Given the description of an element on the screen output the (x, y) to click on. 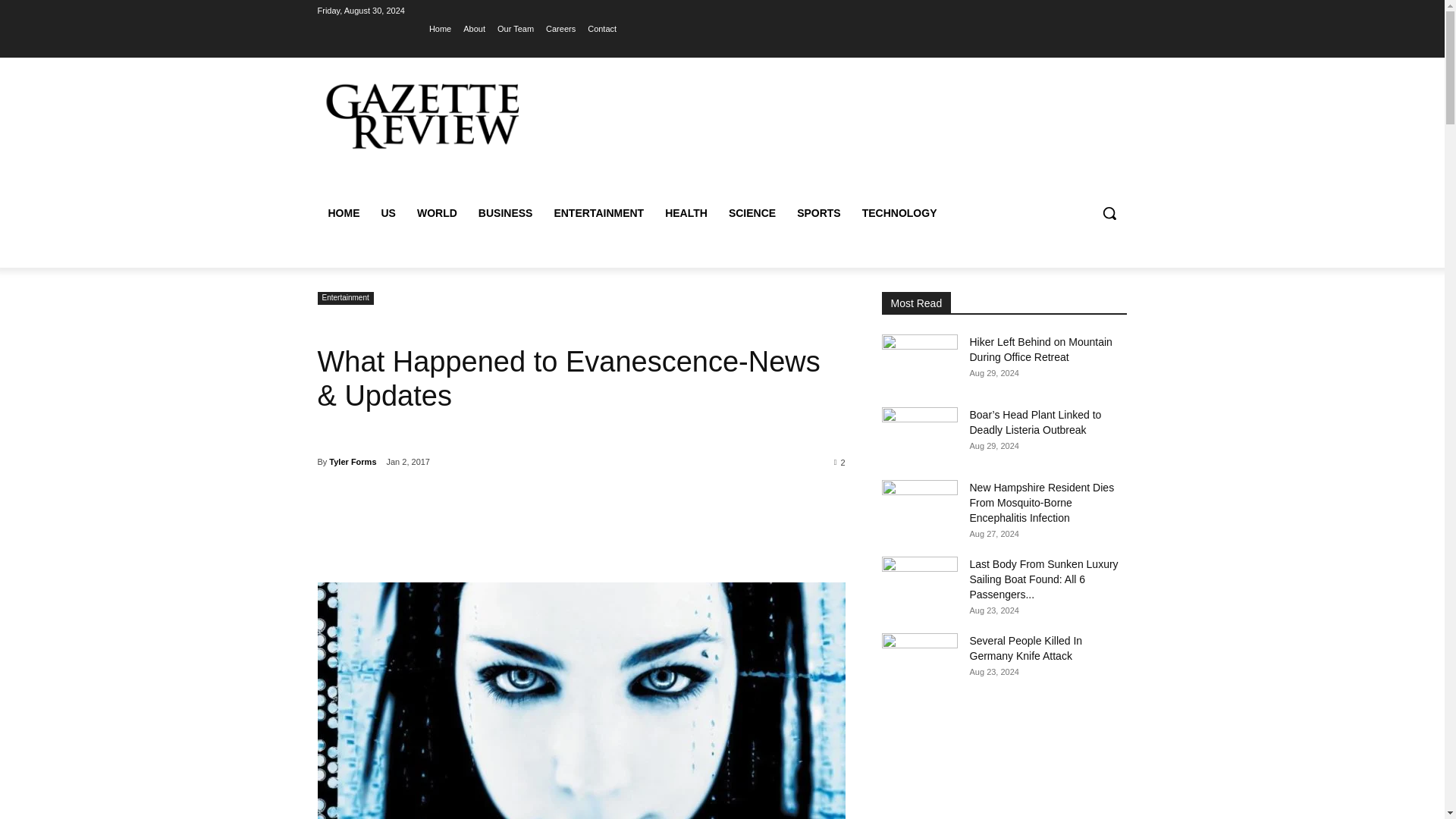
SCIENCE (751, 212)
Home (440, 28)
Careers (560, 28)
Tyler Forms (352, 461)
Contact (601, 28)
Our Team (515, 28)
2 (839, 461)
HOME (343, 212)
HEALTH (685, 212)
BUSINESS (505, 212)
